Given the description of an element on the screen output the (x, y) to click on. 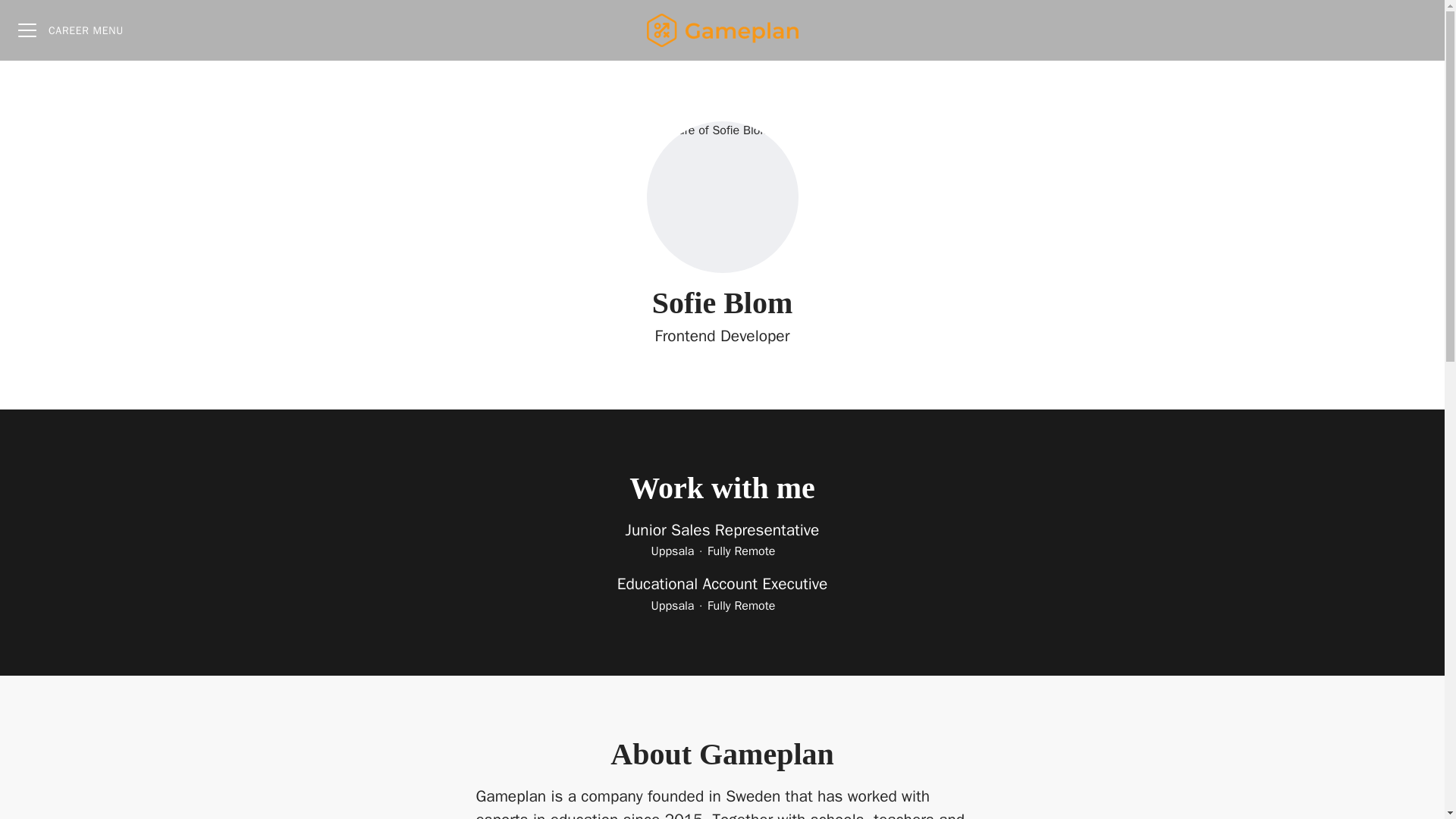
Career menu (70, 30)
Share page (1414, 30)
CAREER MENU (70, 30)
